Given the description of an element on the screen output the (x, y) to click on. 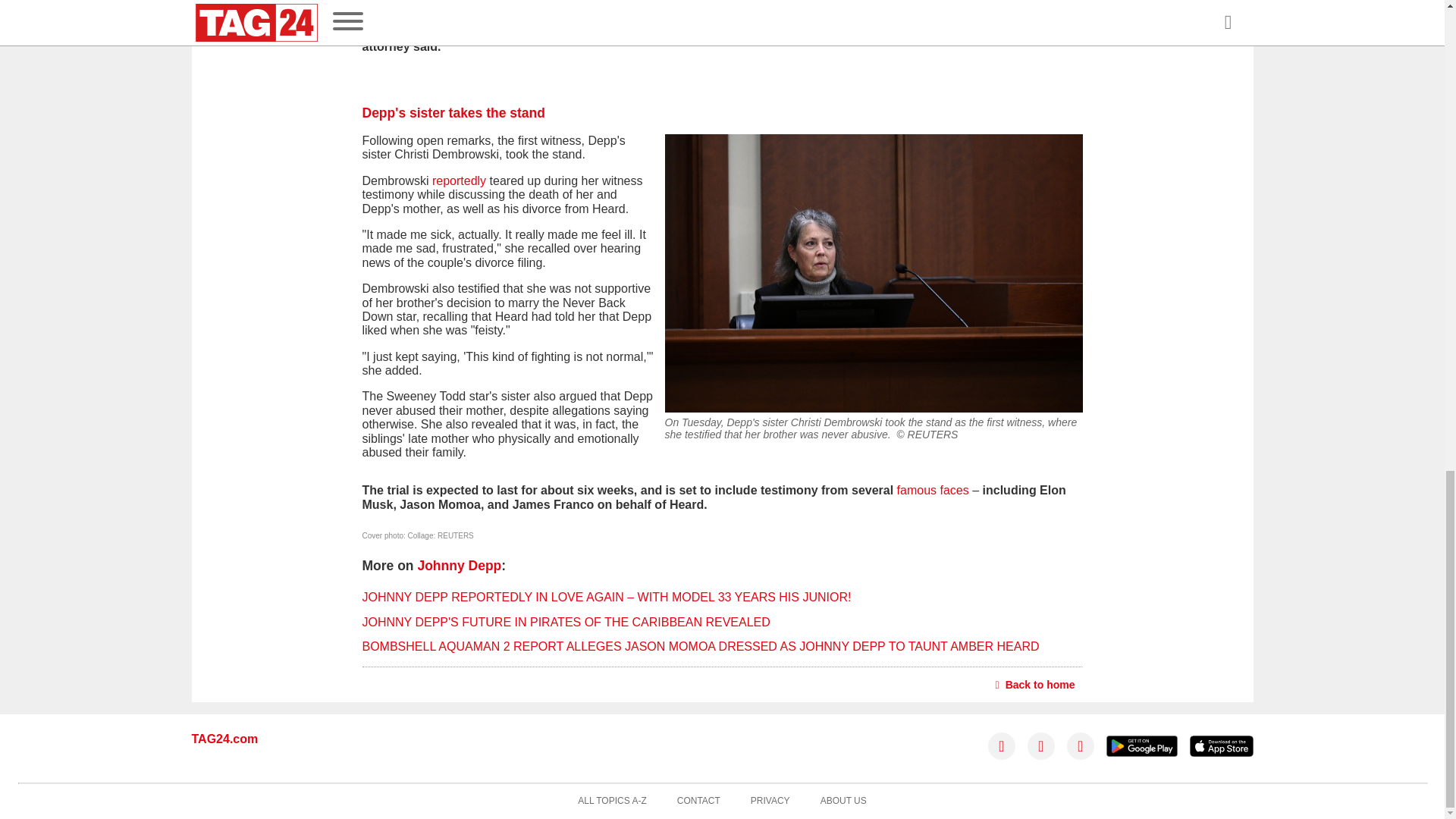
his ability to work (1033, 18)
famous faces (932, 490)
Back to home (1035, 684)
JOHNNY DEPP'S FUTURE IN PIRATES OF THE CARIBBEAN REVEALED (566, 621)
Johnny Depp (458, 565)
reportedly (457, 180)
